Given the description of an element on the screen output the (x, y) to click on. 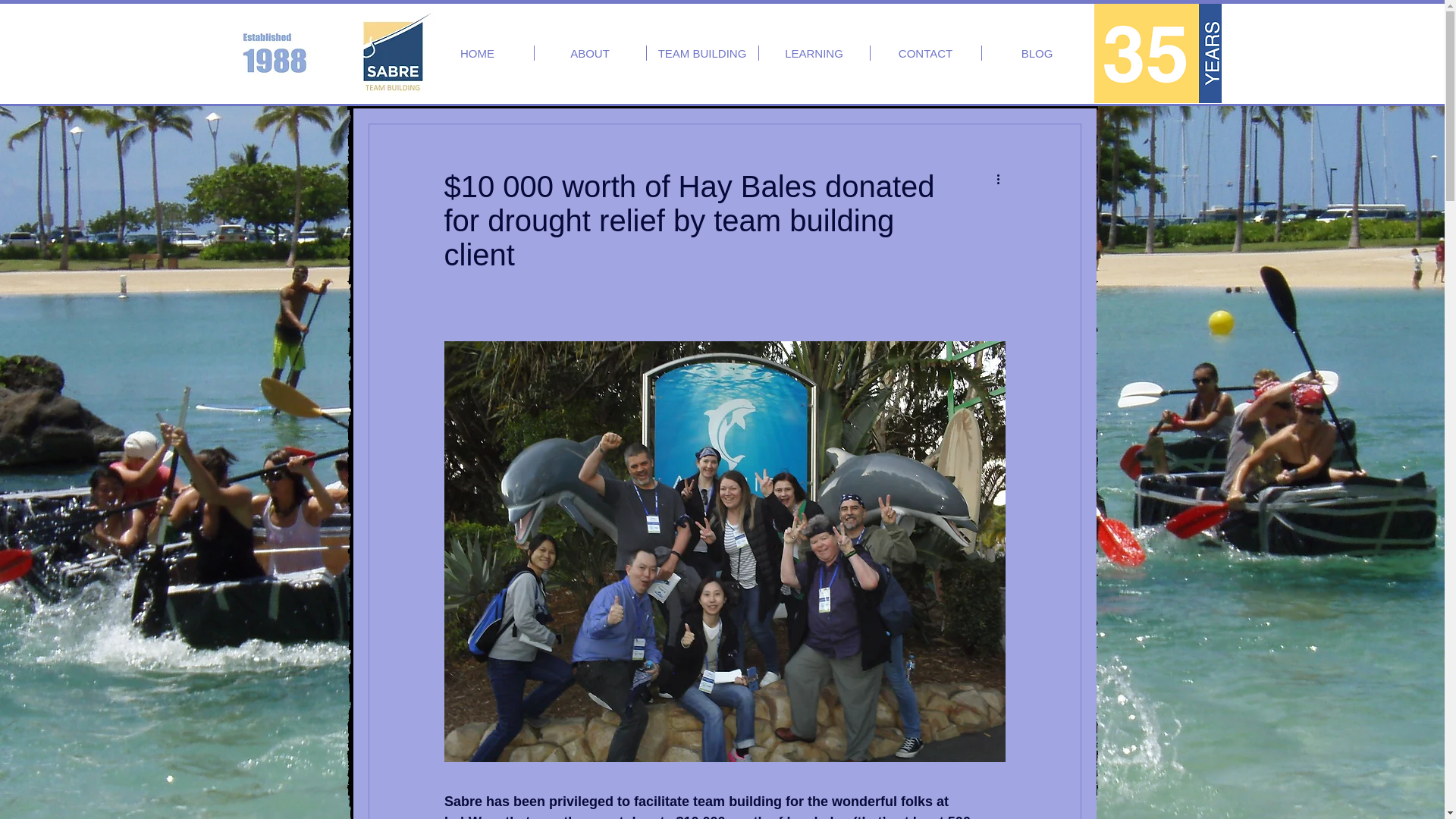
Team Building Australia since 1988 (1157, 53)
CONTACT (925, 52)
BLOG (1036, 52)
HOME (478, 52)
TEAM BUILDING (701, 52)
ABOUT (589, 52)
LEARNING (813, 52)
Team Building by Sabre Corporate Developmen (391, 52)
